Given the description of an element on the screen output the (x, y) to click on. 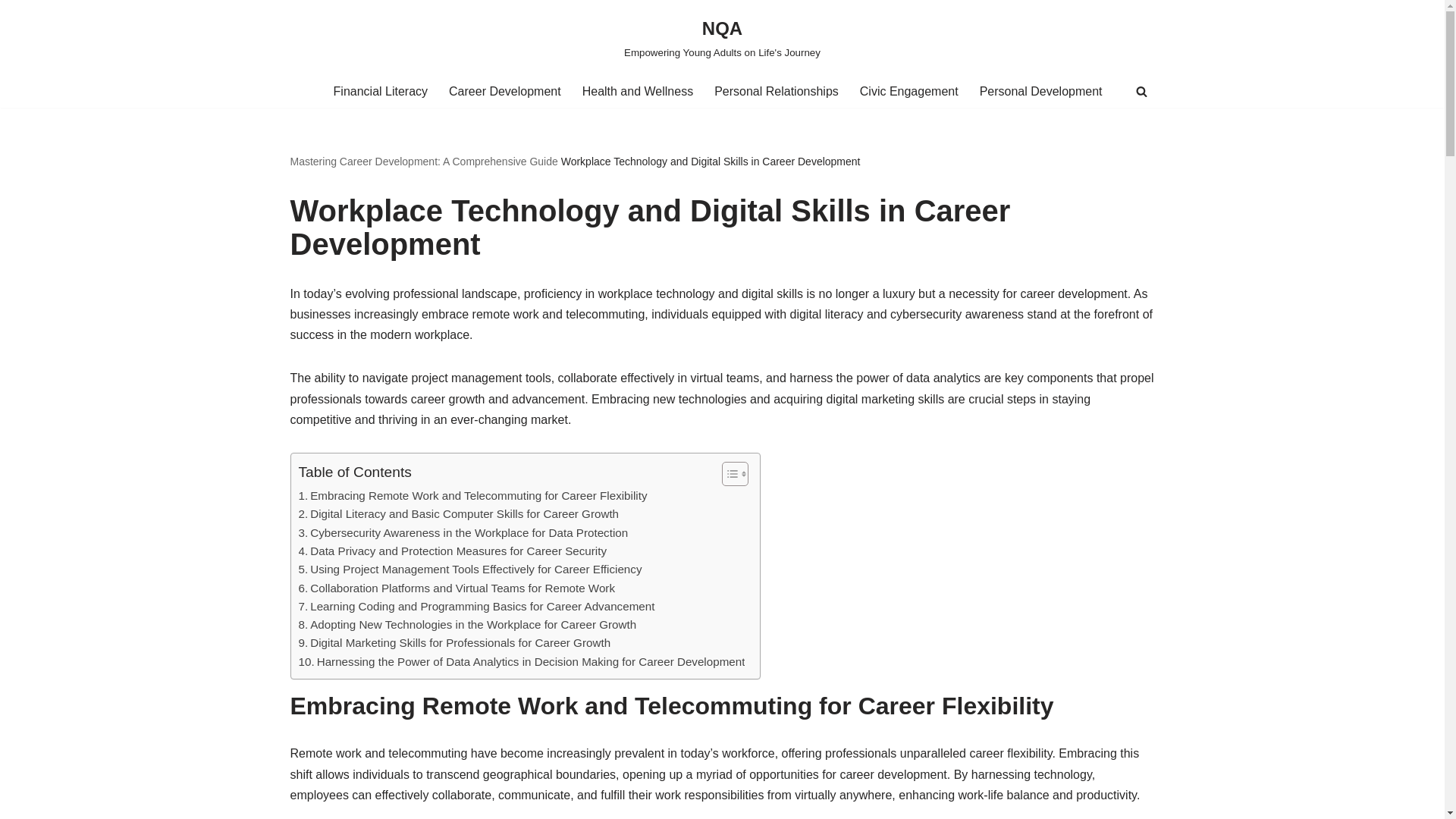
Digital Literacy and Basic Computer Skills for Career Growth (459, 514)
Digital Marketing Skills for Professionals for Career Growth (454, 642)
Health and Wellness (637, 91)
Skip to content (11, 31)
Collaboration Platforms and Virtual Teams for Remote Work (456, 588)
Cybersecurity Awareness in the Workplace for Data Protection (463, 533)
Career Development (504, 91)
